Given the description of an element on the screen output the (x, y) to click on. 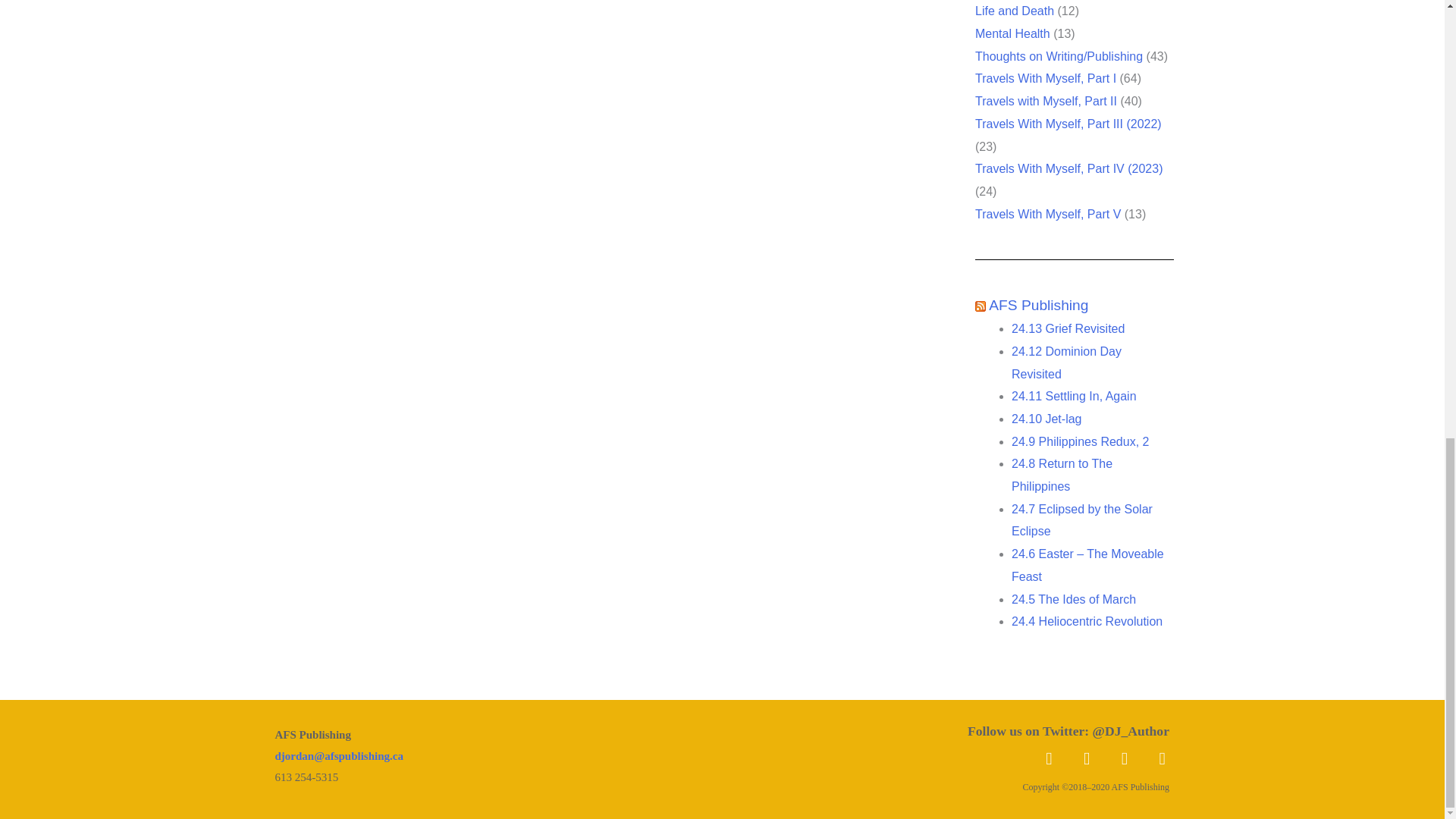
Travels with Myself, Part II (1045, 101)
Travels With Myself, Part V (1048, 214)
24.13 Grief Revisited (1067, 328)
Life and Death (1014, 10)
AFS Publishing (1037, 304)
Mental Health (1012, 33)
24.12 Dominion Day Revisited (1066, 362)
Travels With Myself, Part I (1045, 78)
